Given the description of an element on the screen output the (x, y) to click on. 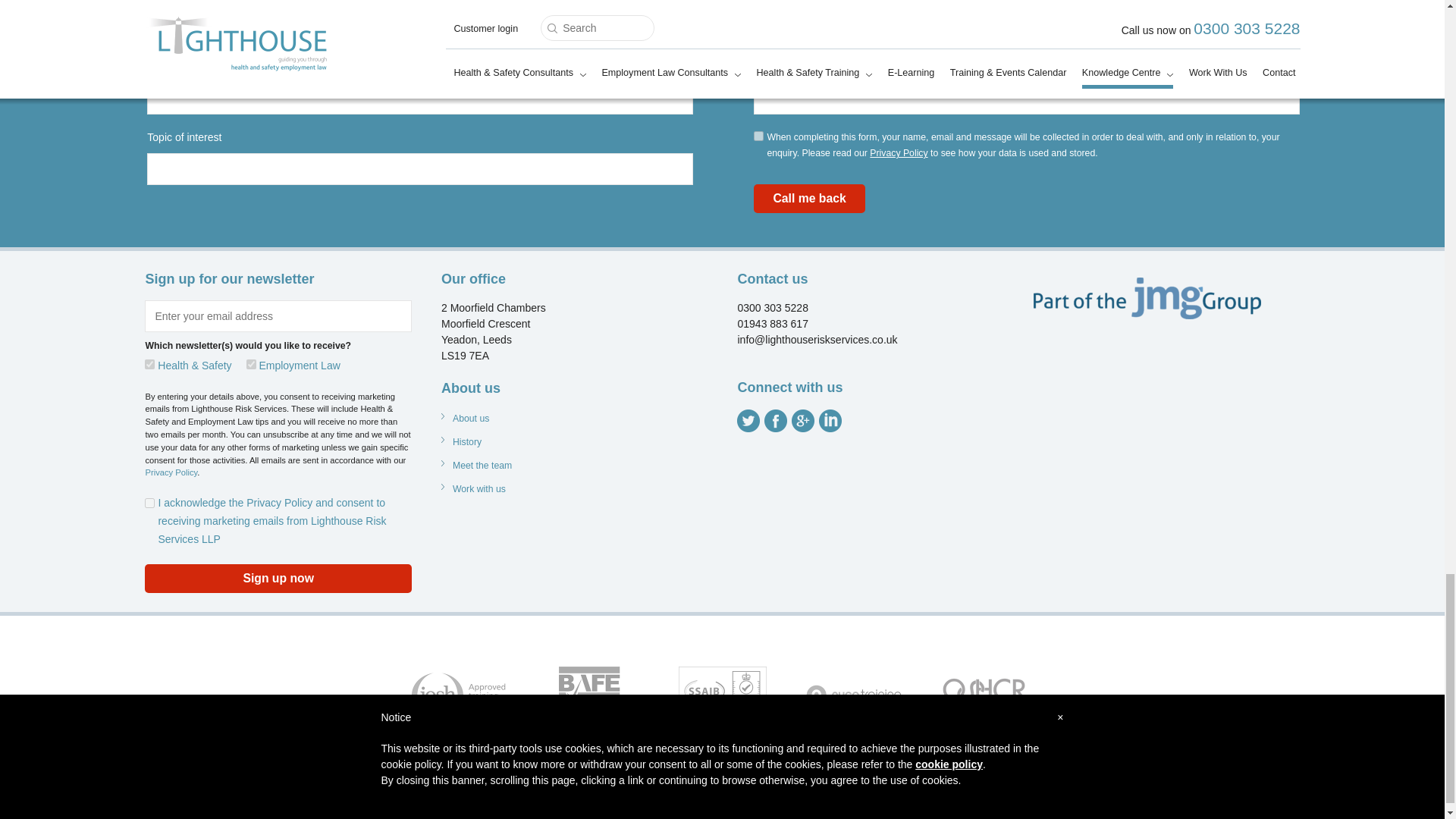
on (149, 502)
451462 (251, 364)
1 (758, 135)
Call me back (809, 198)
451461 (149, 364)
